Given the description of an element on the screen output the (x, y) to click on. 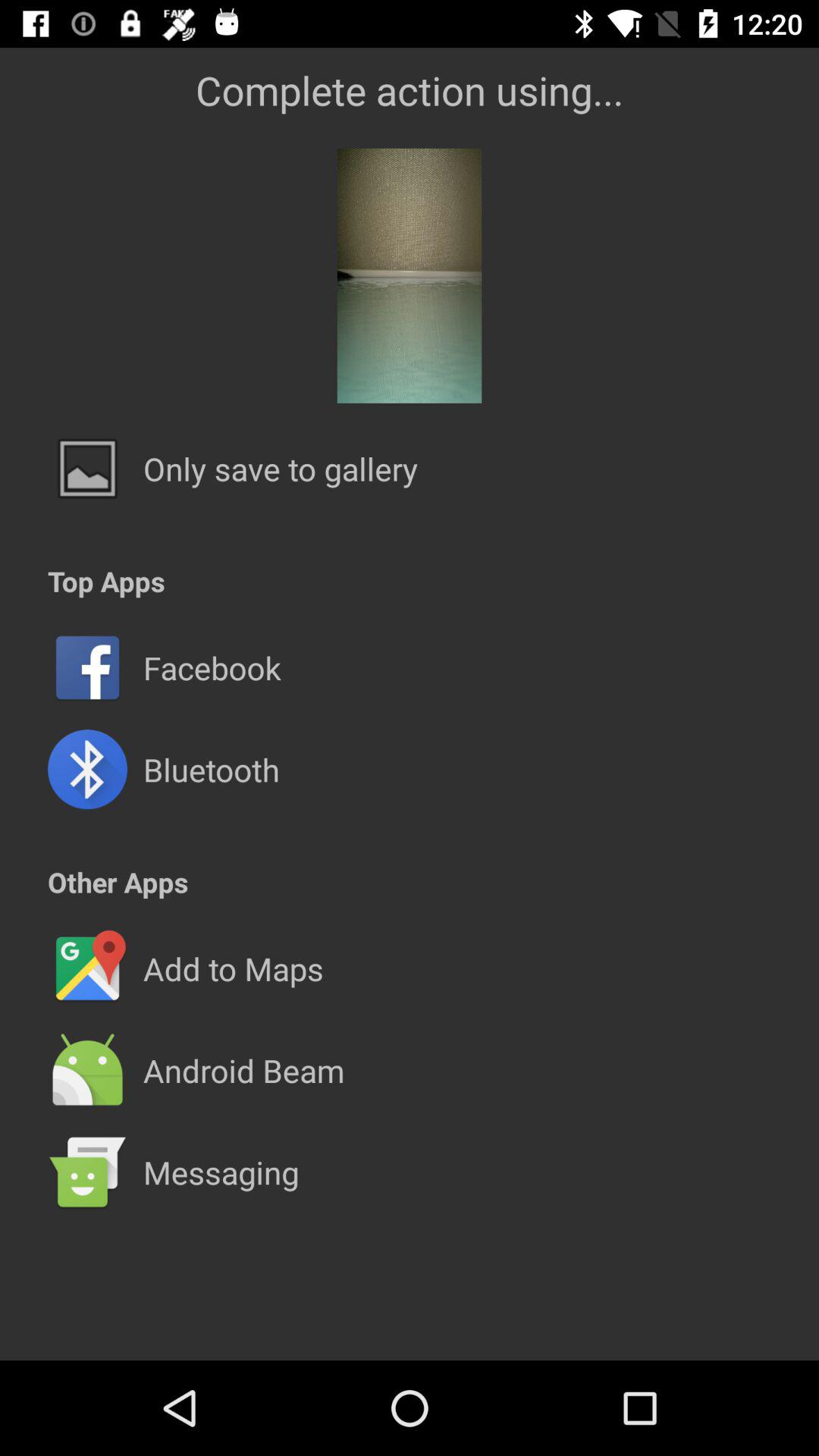
select item below other apps item (409, 917)
